Given the description of an element on the screen output the (x, y) to click on. 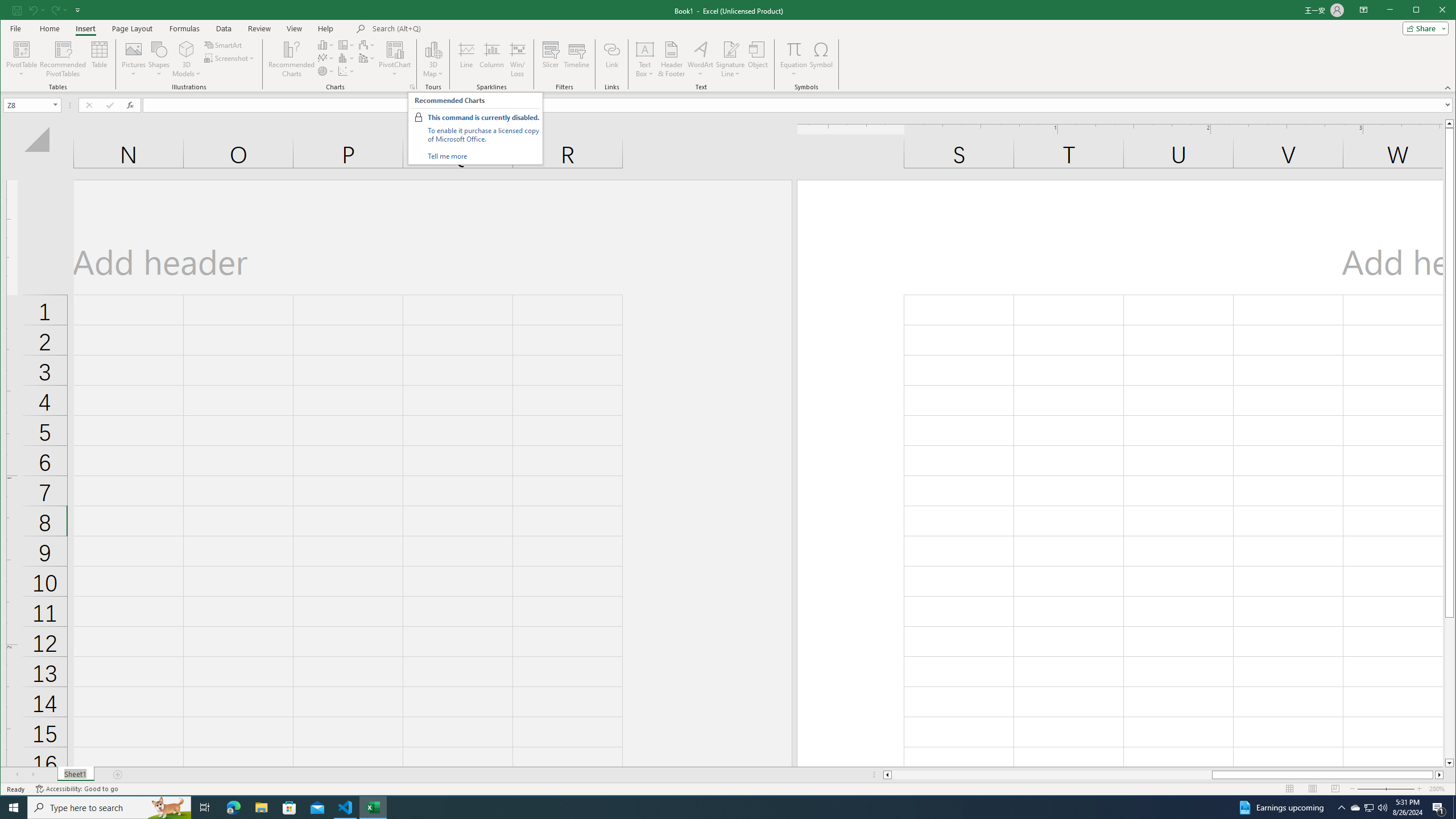
Q2790: 100% (1382, 807)
Insert Combo Chart (366, 57)
Table (99, 59)
Draw Horizontal Text Box (644, 48)
PivotChart (394, 59)
3D Models (186, 48)
Slicer... (550, 59)
